Given the description of an element on the screen output the (x, y) to click on. 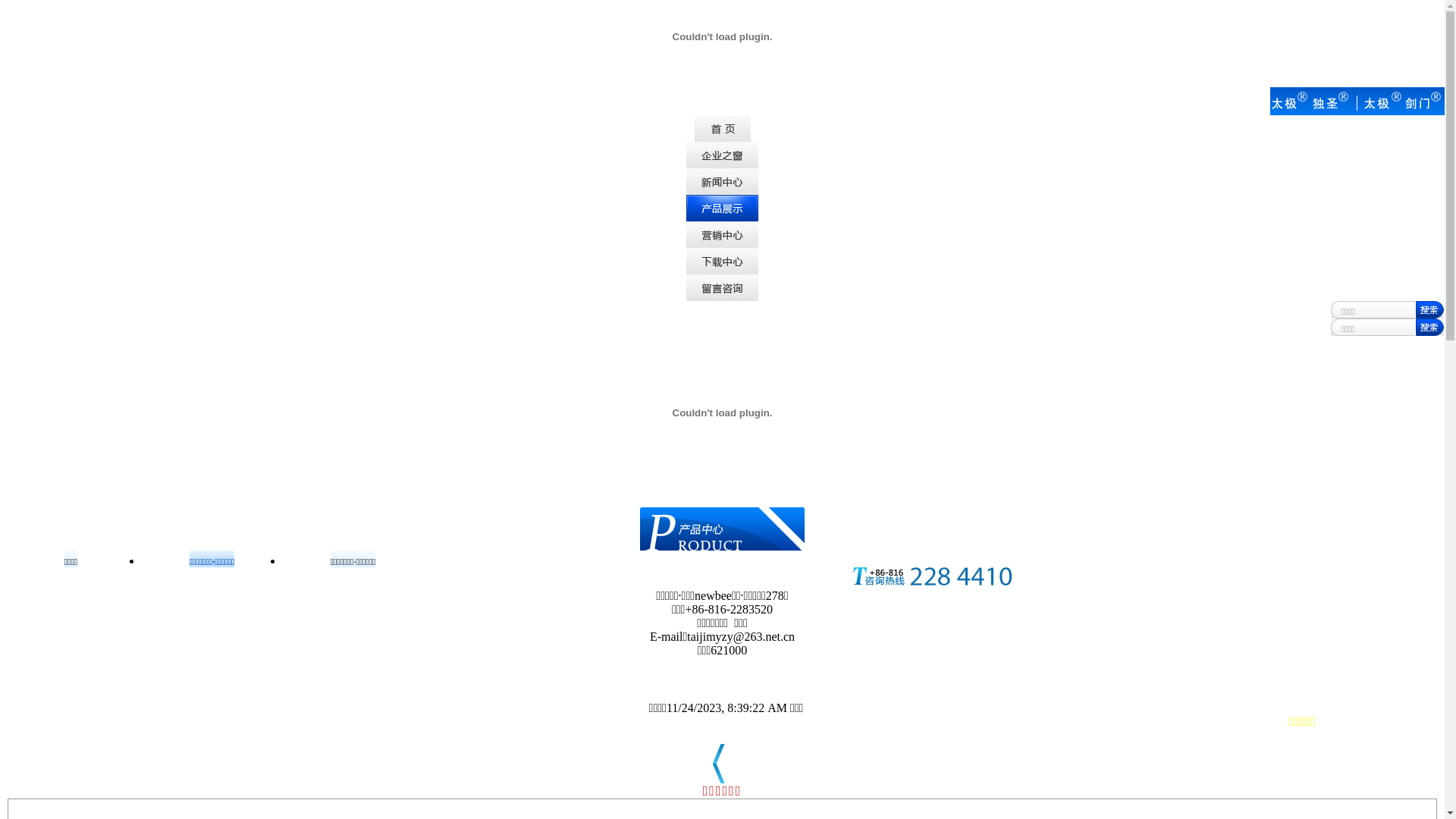
taijimyzy@263.net.cn Element type: text (740, 636)
